Given the description of an element on the screen output the (x, y) to click on. 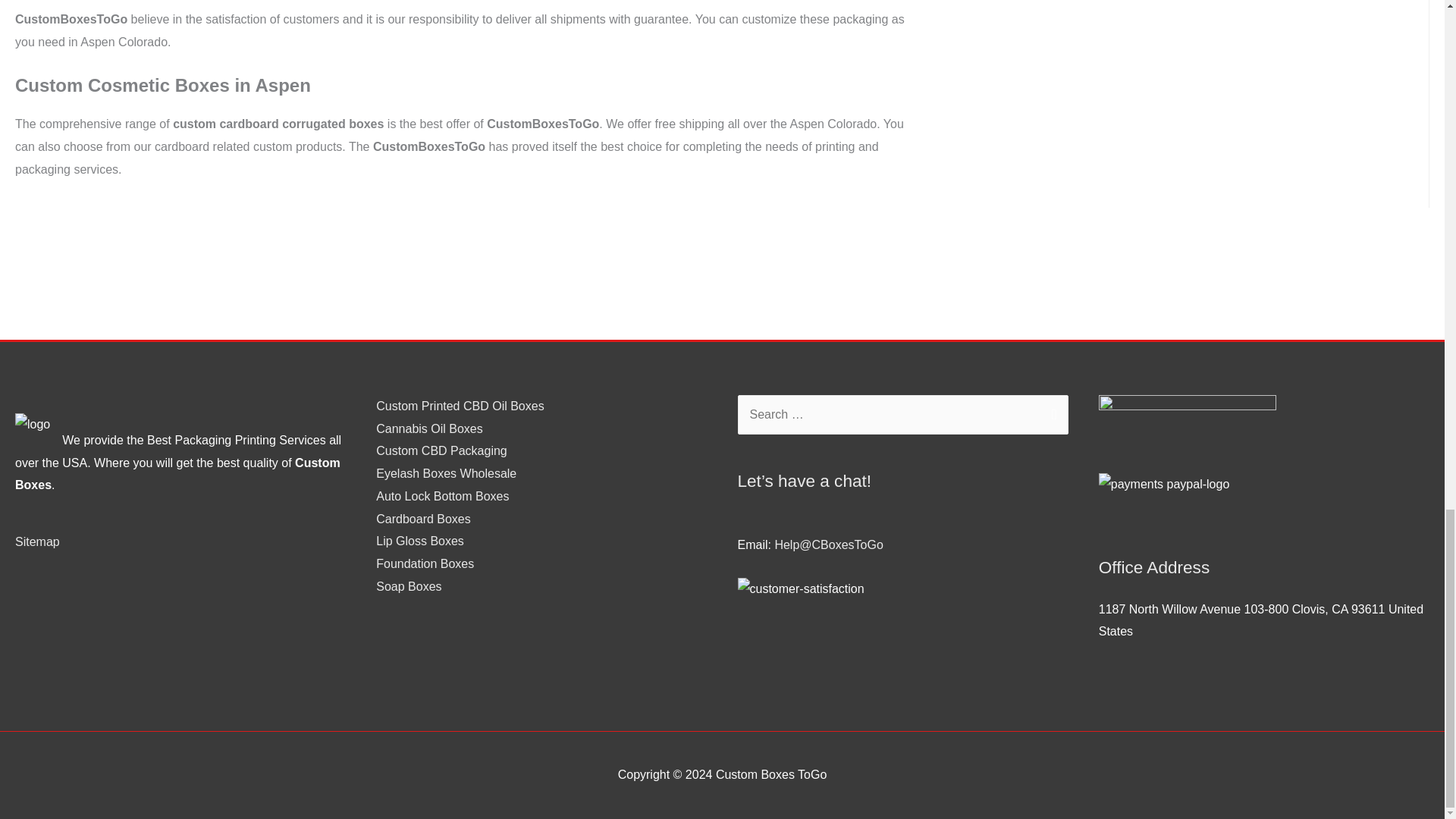
Auto Lock Bottom Boxes (441, 495)
Lip Gloss Boxes (419, 540)
Cannabis Oil Boxes (429, 428)
Sitemap (36, 541)
Customer reviews powered by Trustpilot (540, 617)
Cardboard Boxes (422, 518)
Soap Boxes (408, 585)
Custom Printed CBD Oil Boxes (459, 405)
Foundation Boxes (424, 563)
Eyelash Boxes Wholesale (445, 472)
